Given the description of an element on the screen output the (x, y) to click on. 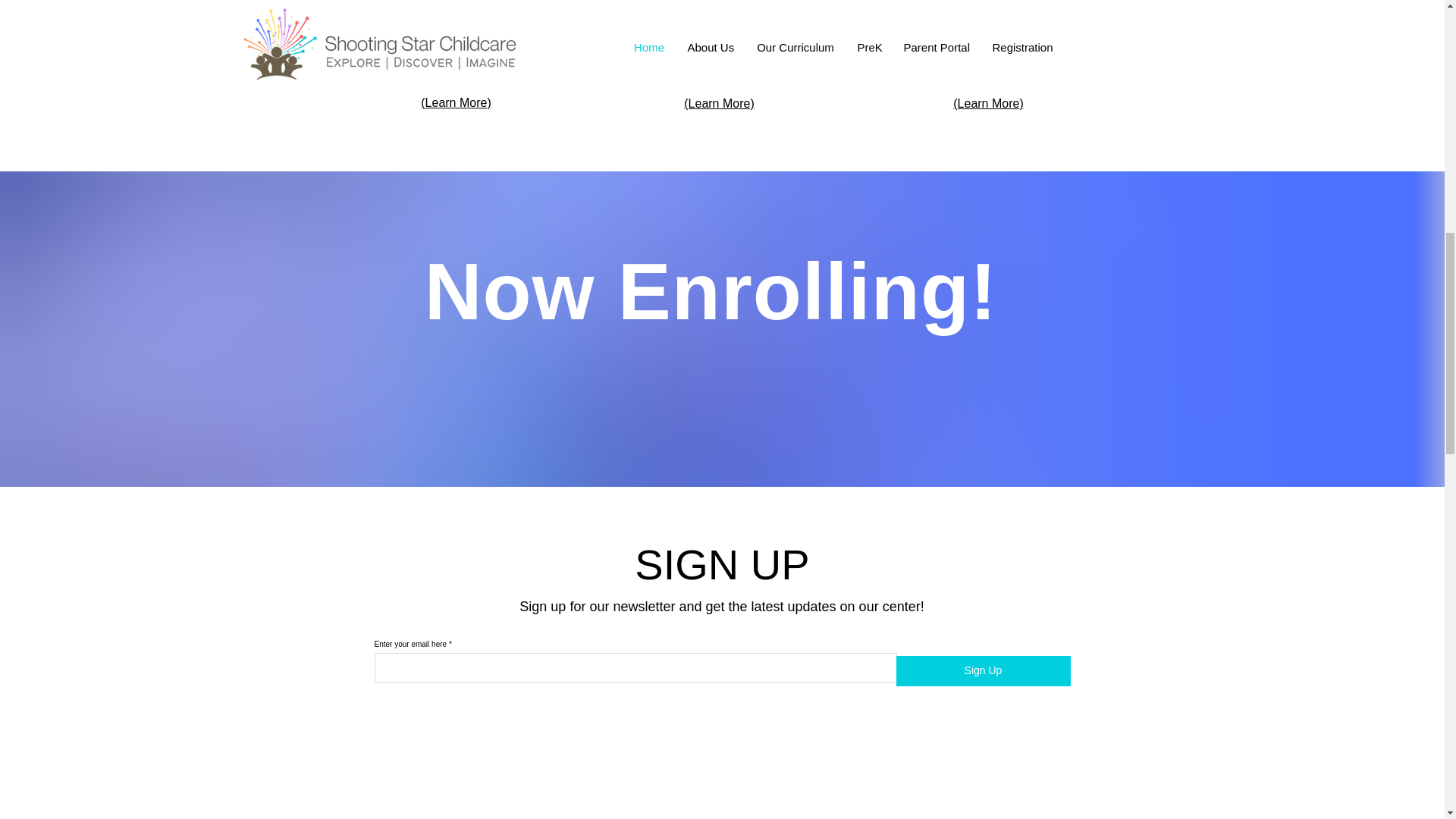
Sign Up (983, 671)
